Given the description of an element on the screen output the (x, y) to click on. 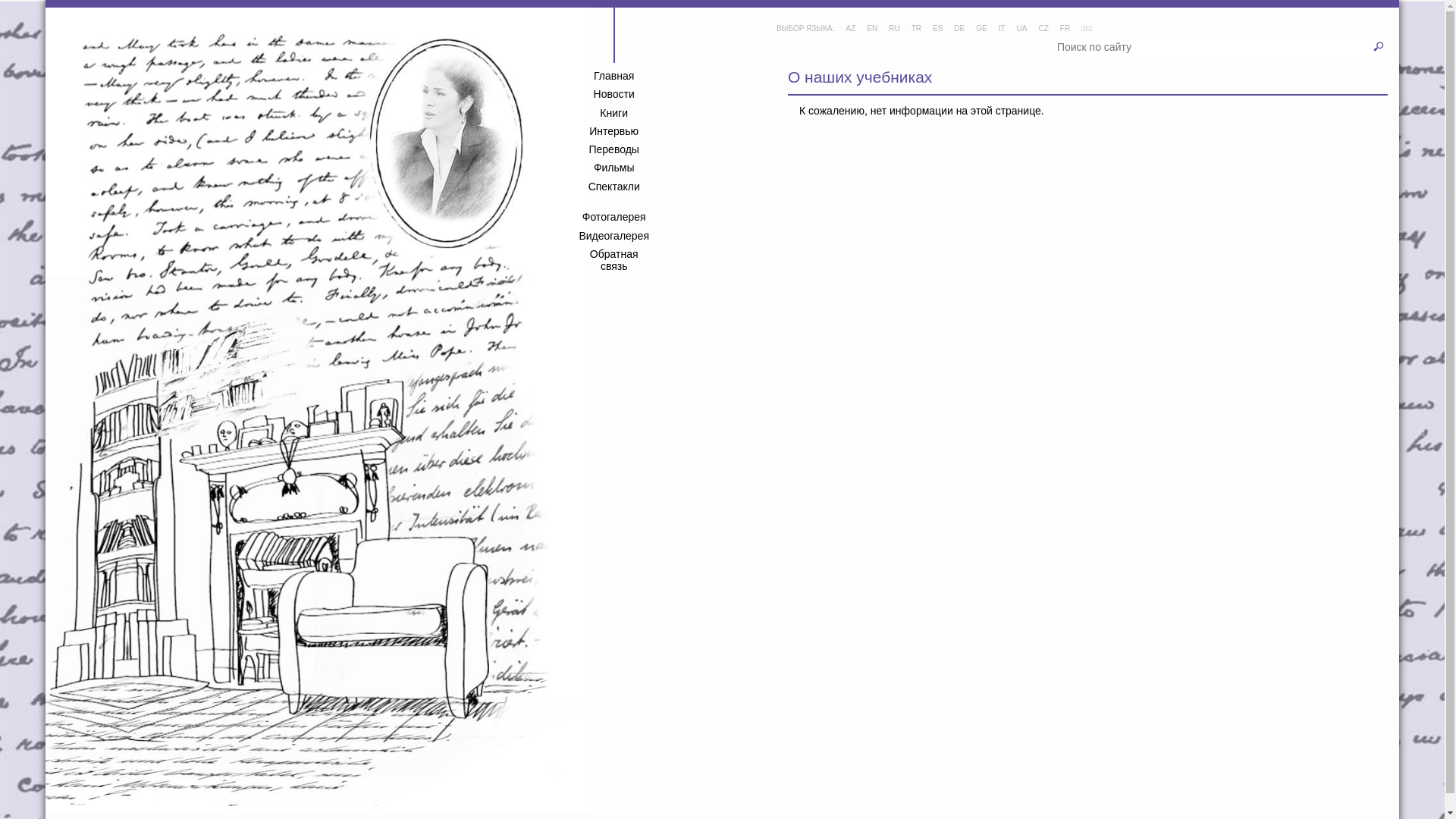
TR Element type: text (916, 28)
FR Element type: text (1065, 28)
GE Element type: text (980, 28)
DE Element type: text (958, 28)
CZ Element type: text (1043, 28)
AZ Element type: text (851, 28)
RU Element type: text (893, 28)
ES Element type: text (937, 28)
EN Element type: text (871, 28)
UA Element type: text (1021, 28)
IT Element type: text (1001, 28)
